Given the description of an element on the screen output the (x, y) to click on. 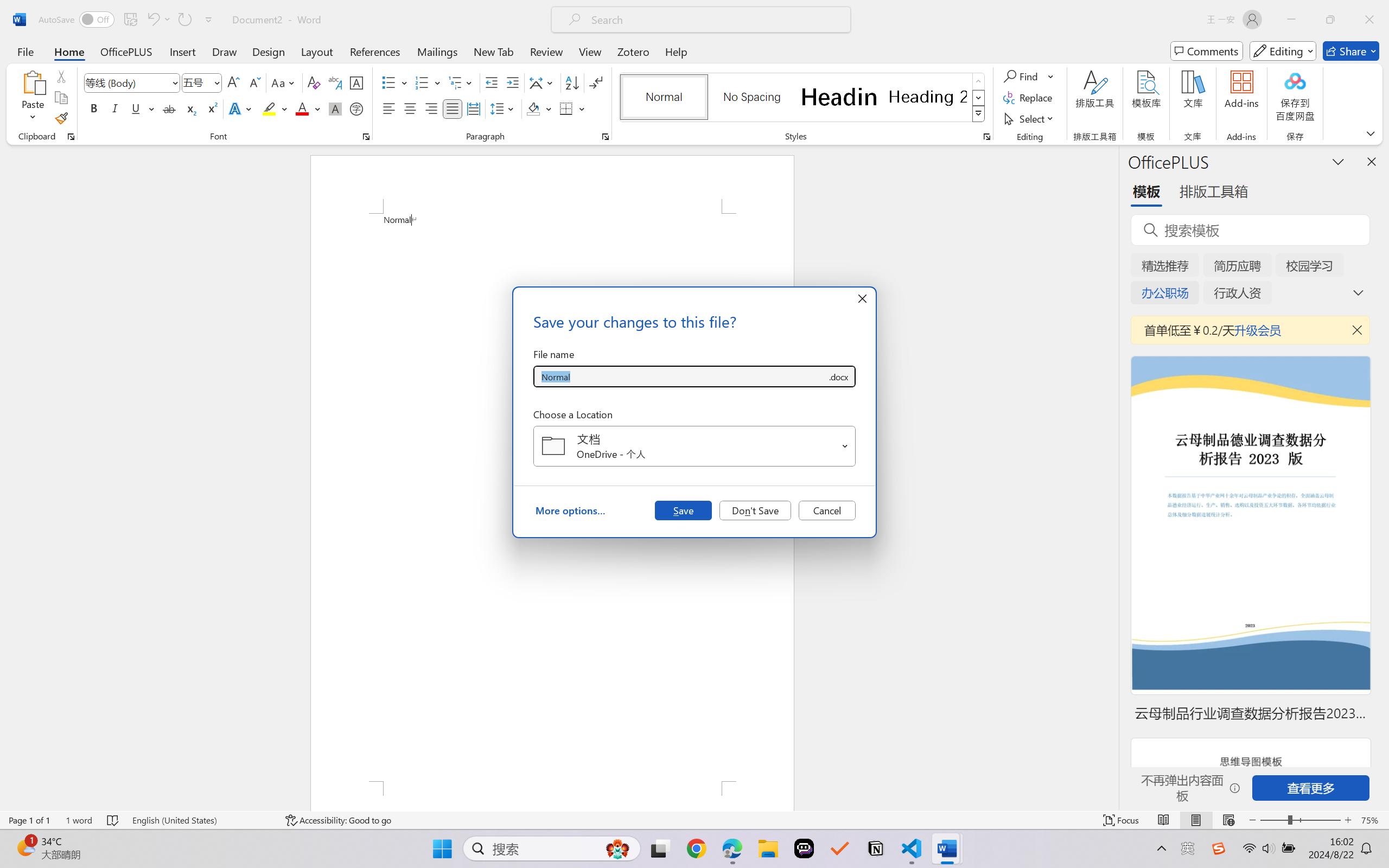
Class: NetUIScrollBar (1111, 477)
OfficePLUS (126, 51)
Clear Formatting (313, 82)
Minimize (1291, 19)
Bullets (395, 82)
Class: NetUIImage (978, 114)
Zoom Out (1273, 819)
Paragraph... (605, 136)
Zoom In (1348, 819)
More Options (1051, 75)
